Given the description of an element on the screen output the (x, y) to click on. 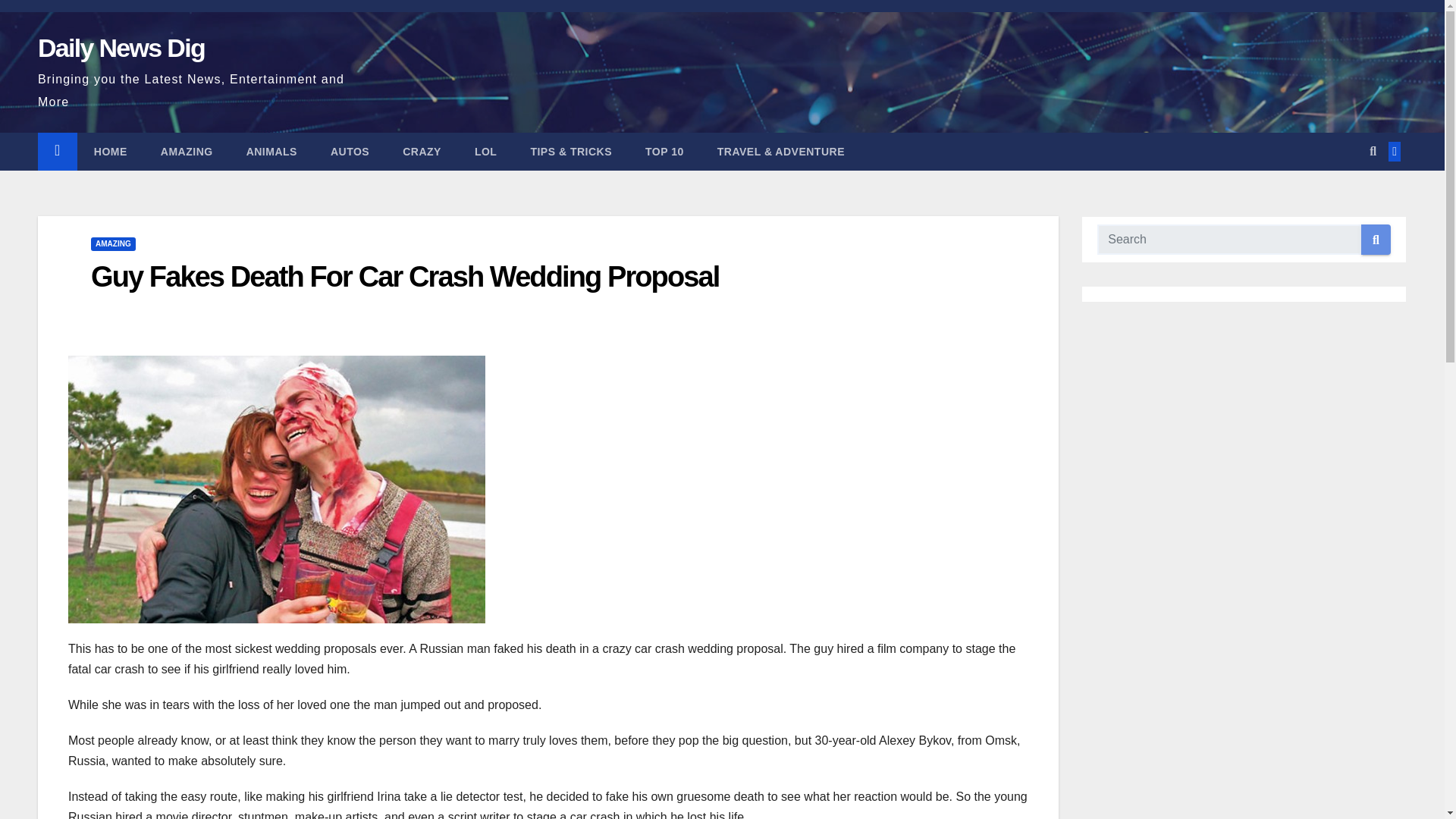
Home (110, 151)
ANIMALS (272, 151)
HOME (110, 151)
AUTOS (349, 151)
LOL (485, 151)
Permalink to: Guy Fakes Death For Car Crash Wedding Proposal (404, 276)
CRAZY (421, 151)
TOP 10 (664, 151)
AMAZING (187, 151)
Crazy (421, 151)
LOL (485, 151)
AUTOS (349, 151)
Daily News Dig (121, 47)
AMAZING (187, 151)
AMAZING (112, 243)
